Given the description of an element on the screen output the (x, y) to click on. 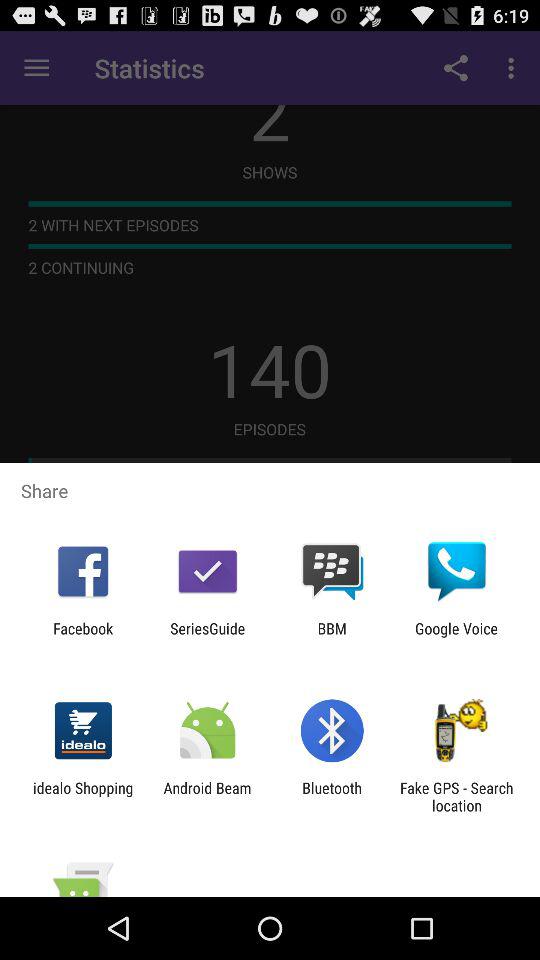
swipe to the google voice (456, 637)
